Given the description of an element on the screen output the (x, y) to click on. 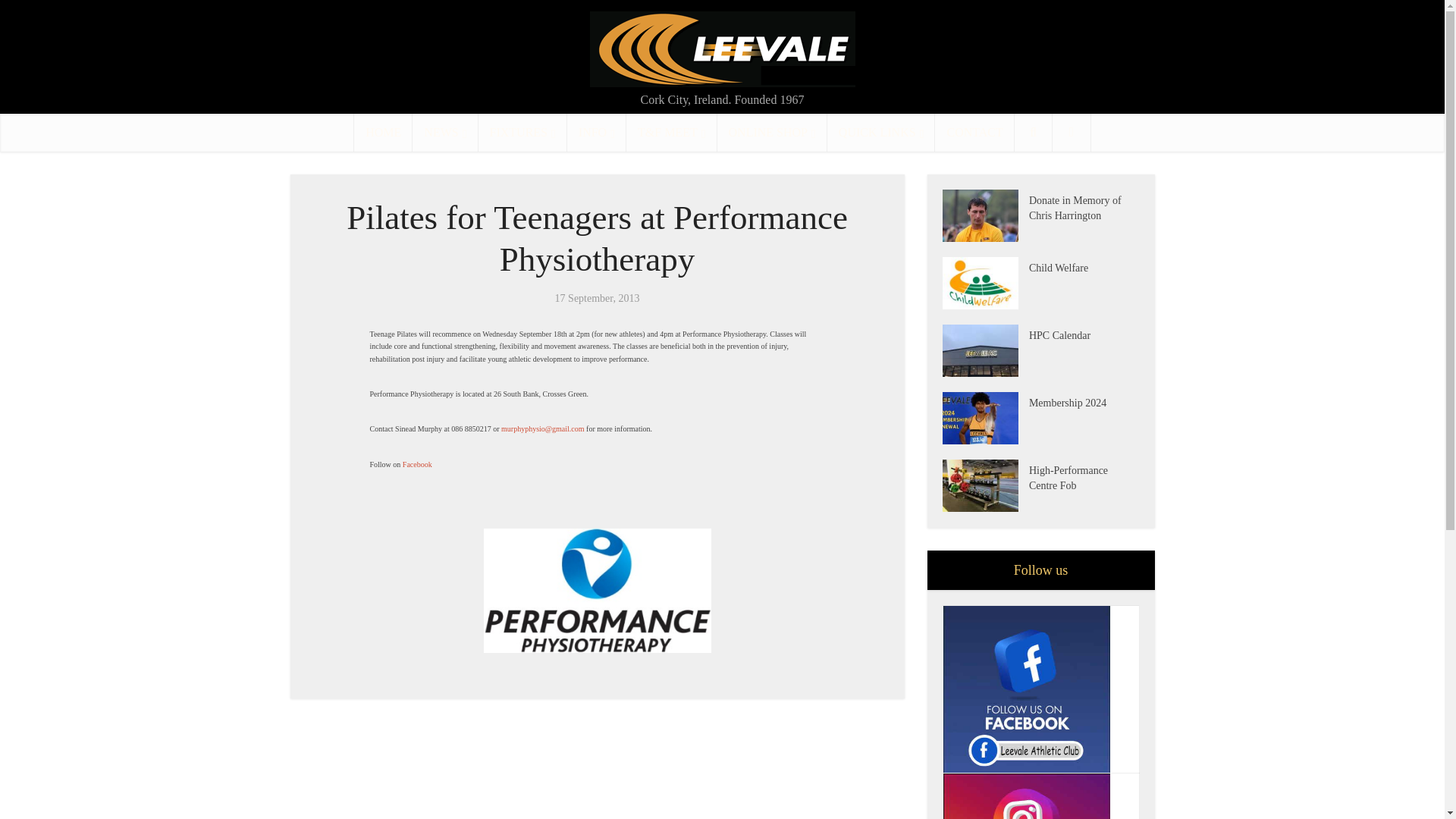
Donate in Memory of Chris Harrington (1084, 206)
HPC Calendar (1084, 333)
NEWS (444, 132)
QUICK LINKS (881, 132)
INFO (596, 132)
ONLINE SHOP (772, 132)
FIXTURES (523, 132)
Donate in Memory of Chris Harrington (984, 215)
Membership 2024 (984, 418)
High-Performance Centre Fob (1084, 476)
